Given the description of an element on the screen output the (x, y) to click on. 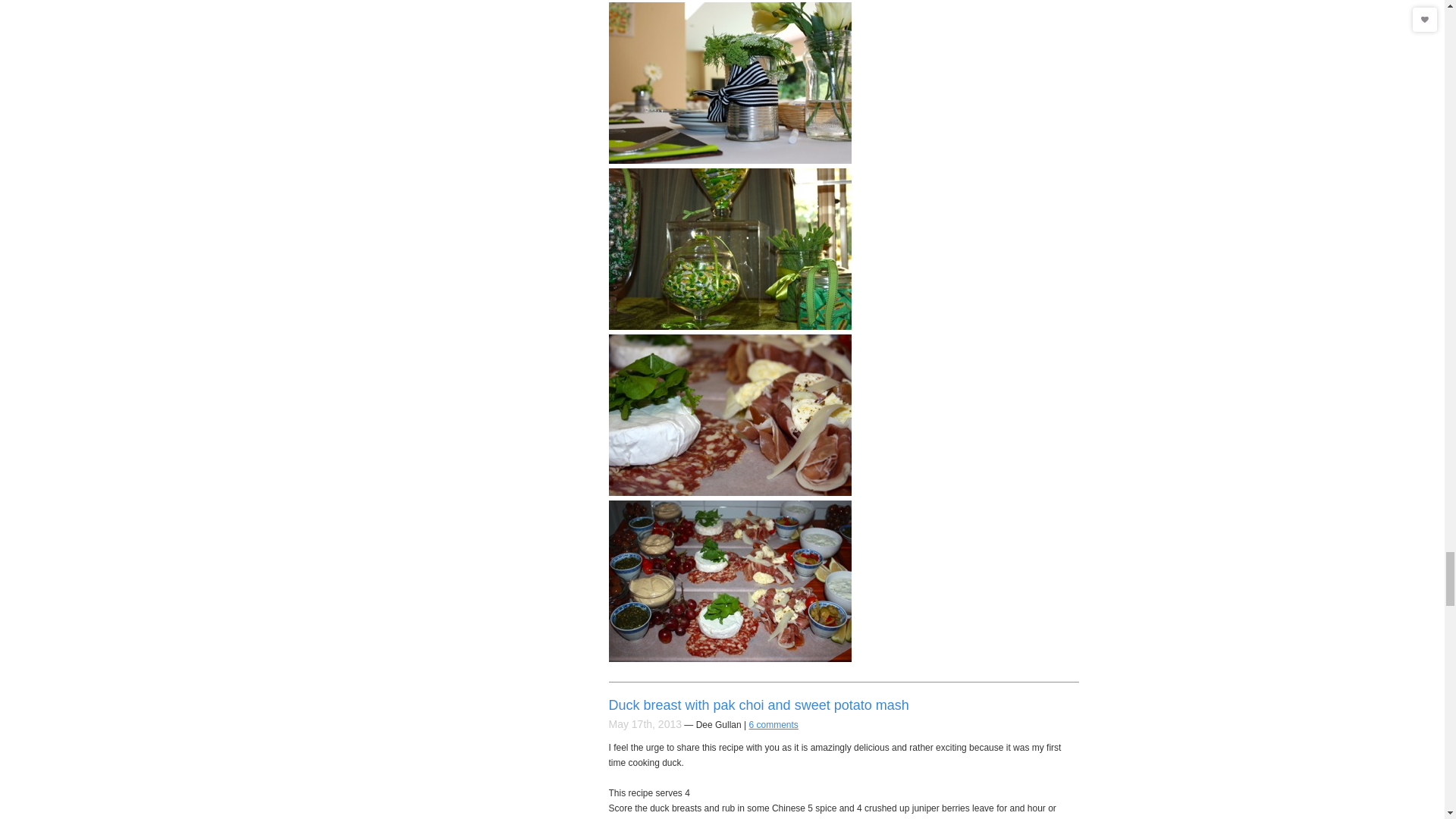
Duck breast with pak choi and sweet potato mash (758, 704)
6 comments (773, 724)
